Given the description of an element on the screen output the (x, y) to click on. 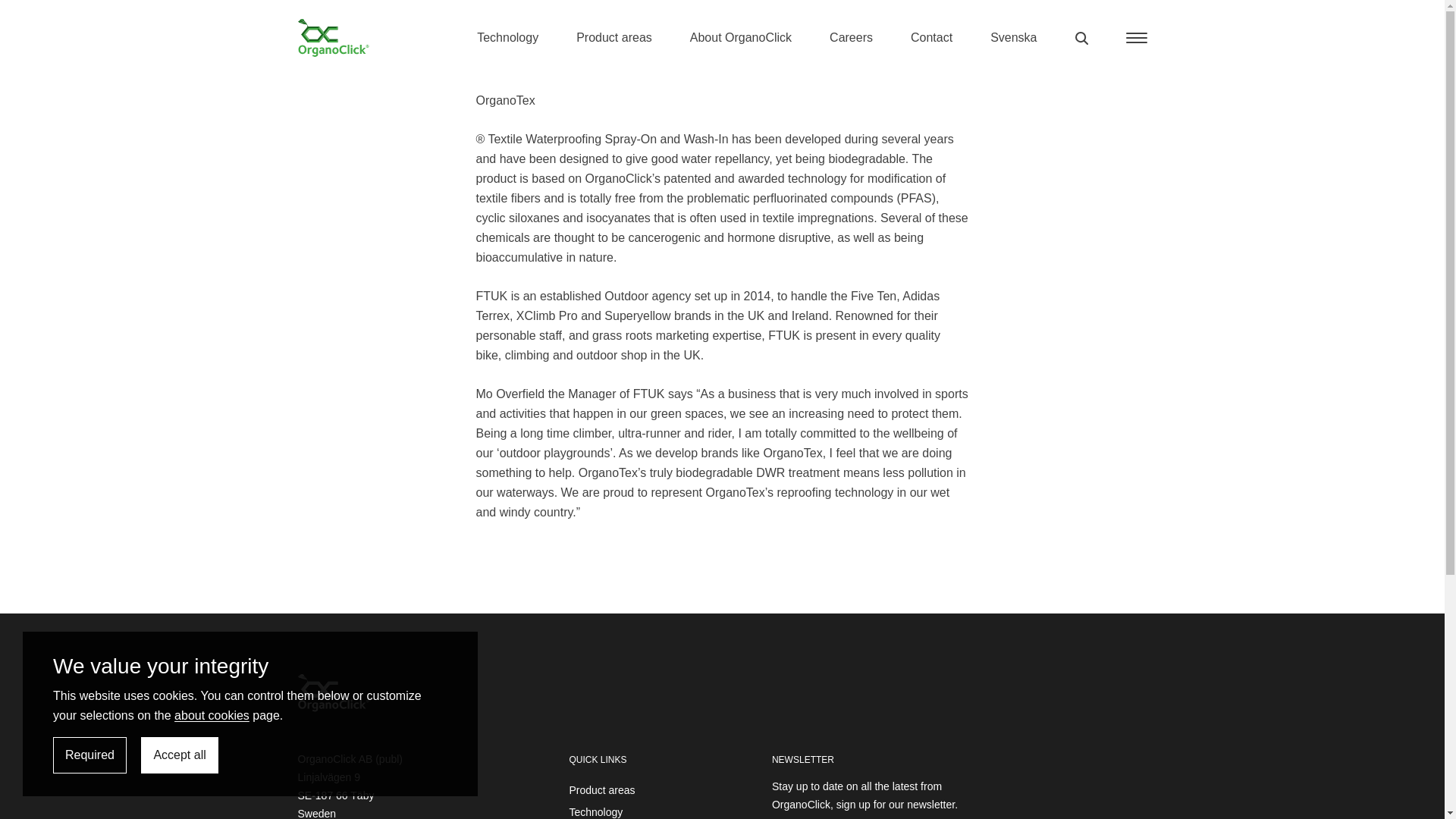
Svenska (1013, 37)
Product areas (614, 37)
About OrganoClick (741, 37)
Careers (850, 37)
Contact (931, 37)
Technology (507, 37)
